Given the description of an element on the screen output the (x, y) to click on. 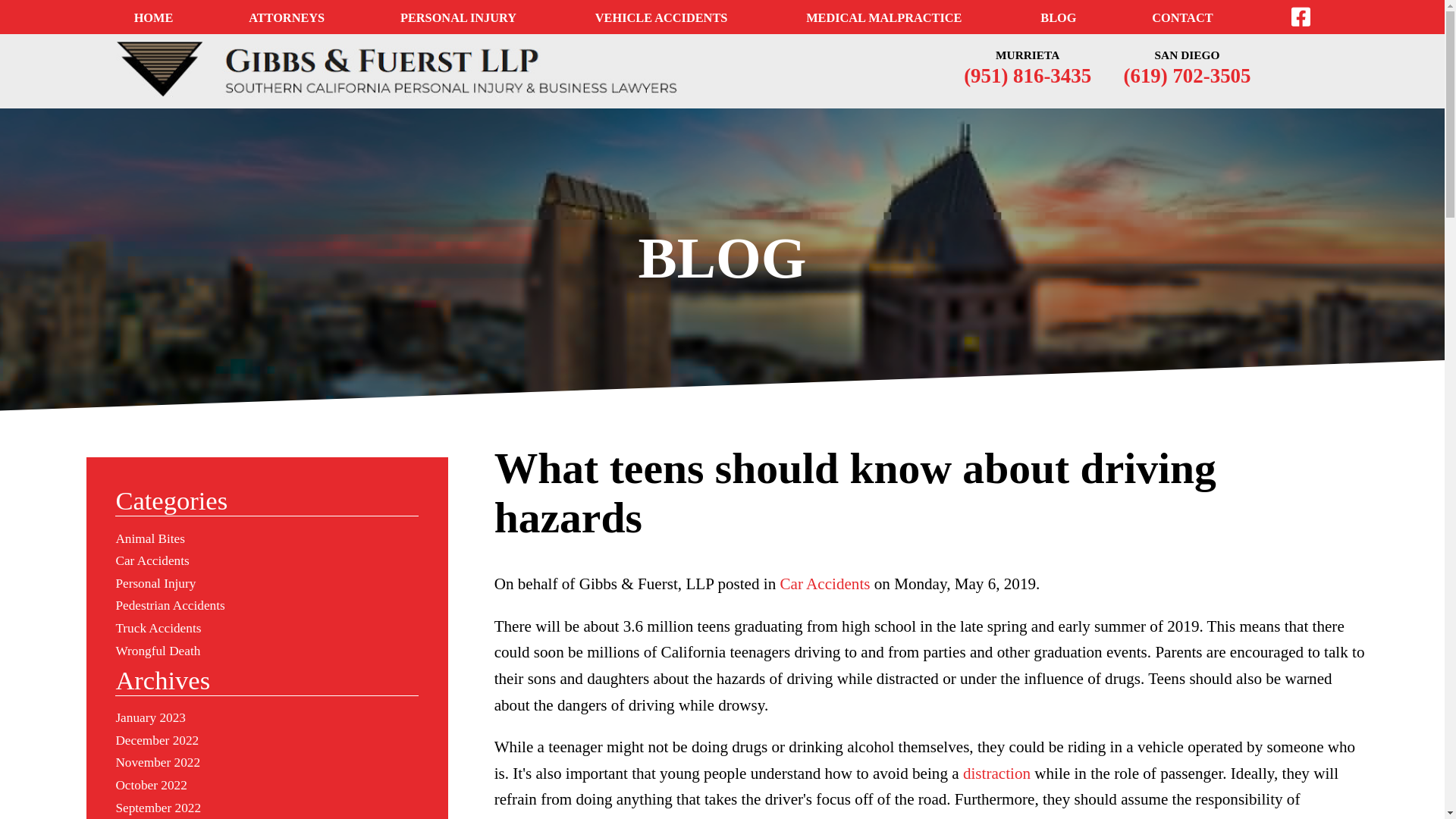
HOME (153, 33)
VEHICLE ACCIDENTS (661, 26)
ATTORNEYS (286, 42)
BLOG (1058, 38)
CONTACT (1181, 40)
MEDICAL MALPRACTICE (883, 29)
PERSONAL INJURY (458, 23)
